Given the description of an element on the screen output the (x, y) to click on. 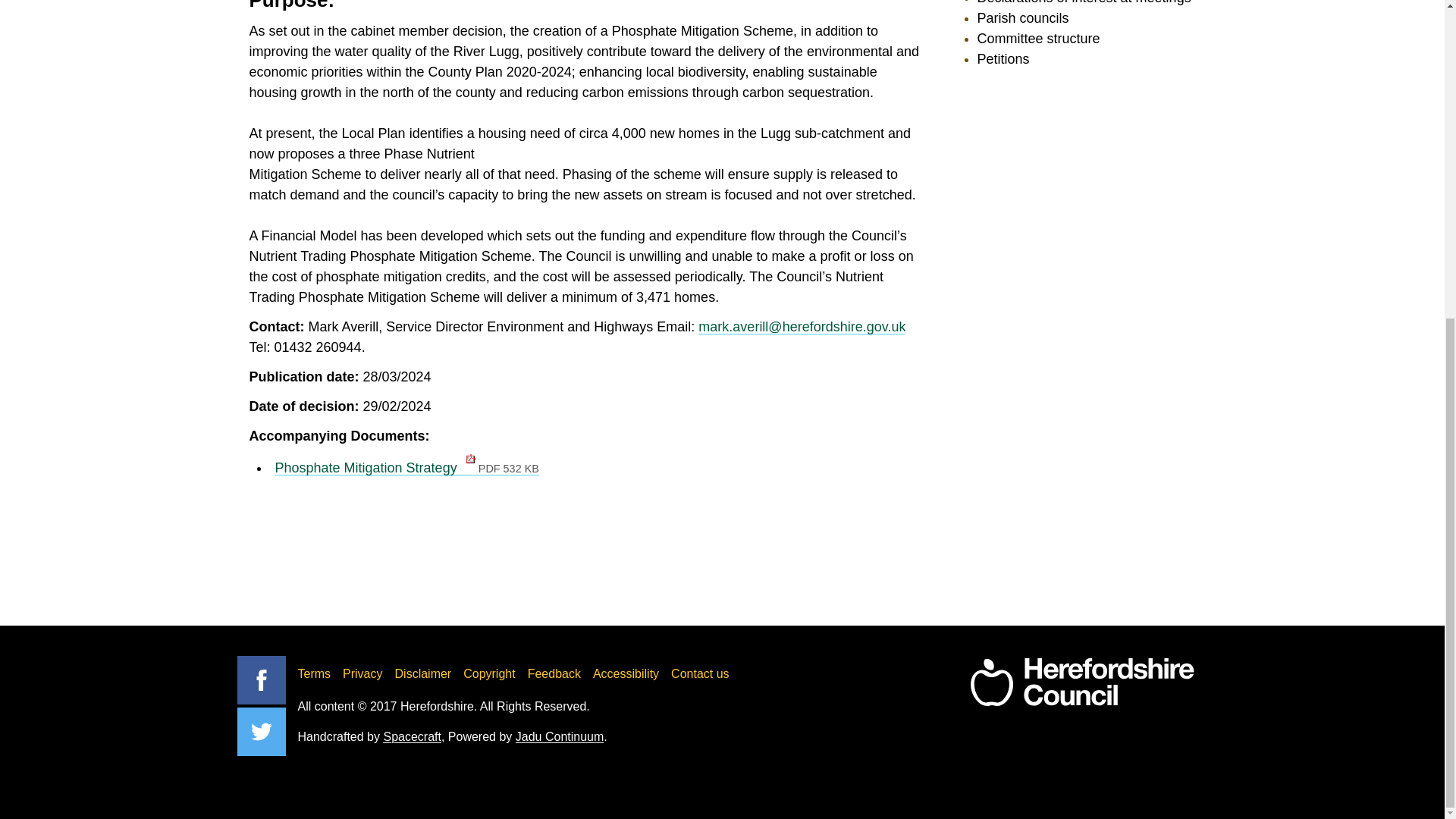
Phosphate Mitigation Strategy PDF 532 KB (406, 467)
Homepage Link: Herefordshire (1081, 682)
Link to parish council details (1022, 17)
Link to file Phosphate Mitigation Strategy (406, 467)
Declarations of interest at meetings (1083, 2)
Follow us on Twitter (260, 731)
Find us on Facebook (260, 680)
Link to declarations of interest at meetings (1083, 2)
Committee structure (1037, 38)
Parish councils (1022, 17)
Link to committee structure (1037, 38)
Petitions (1002, 58)
Link to Petitions (1002, 58)
